Given the description of an element on the screen output the (x, y) to click on. 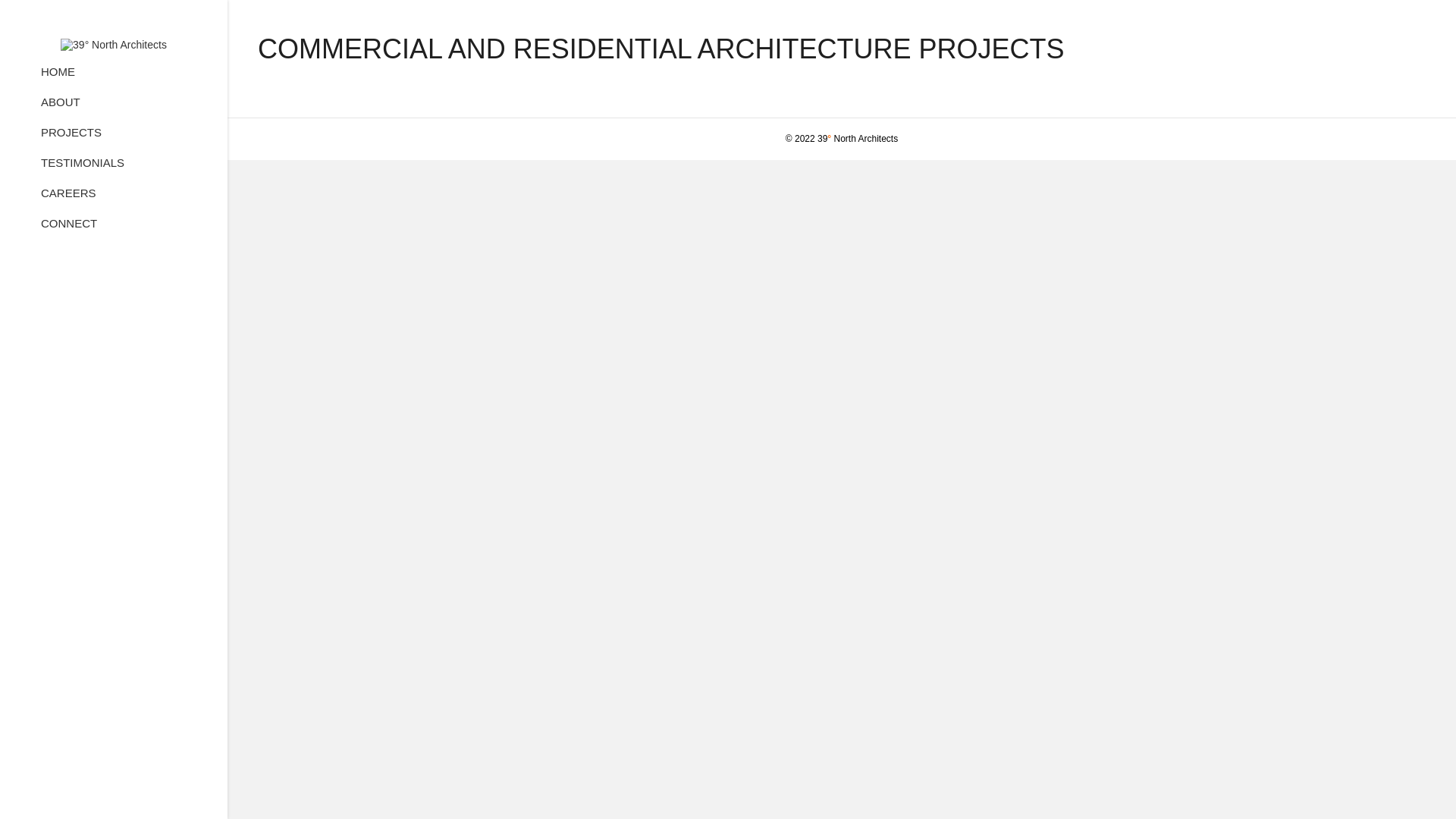
HOME Element type: text (57, 76)
PROJECTS Element type: text (71, 137)
CONNECT Element type: text (68, 228)
ABOUT Element type: text (60, 107)
TESTIMONIALS Element type: text (82, 167)
CAREERS Element type: text (68, 198)
